Given the description of an element on the screen output the (x, y) to click on. 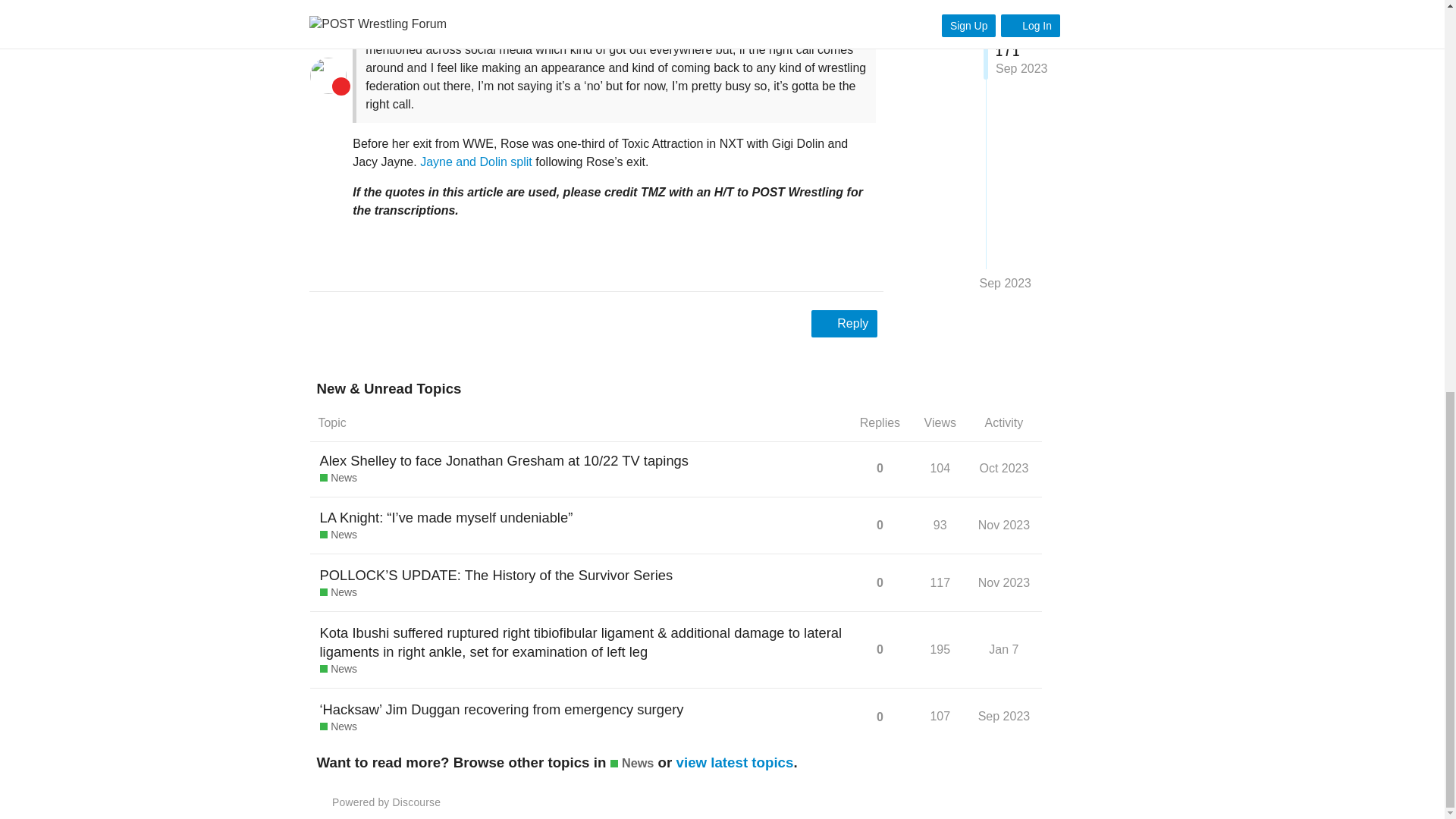
Jan 7 (1003, 649)
like this post (835, 263)
Reply (843, 323)
Jayne and Dolin split (476, 161)
copy a link to this post to clipboard (869, 263)
News (338, 534)
Oct 2023 (1003, 468)
News (338, 478)
